Given the description of an element on the screen output the (x, y) to click on. 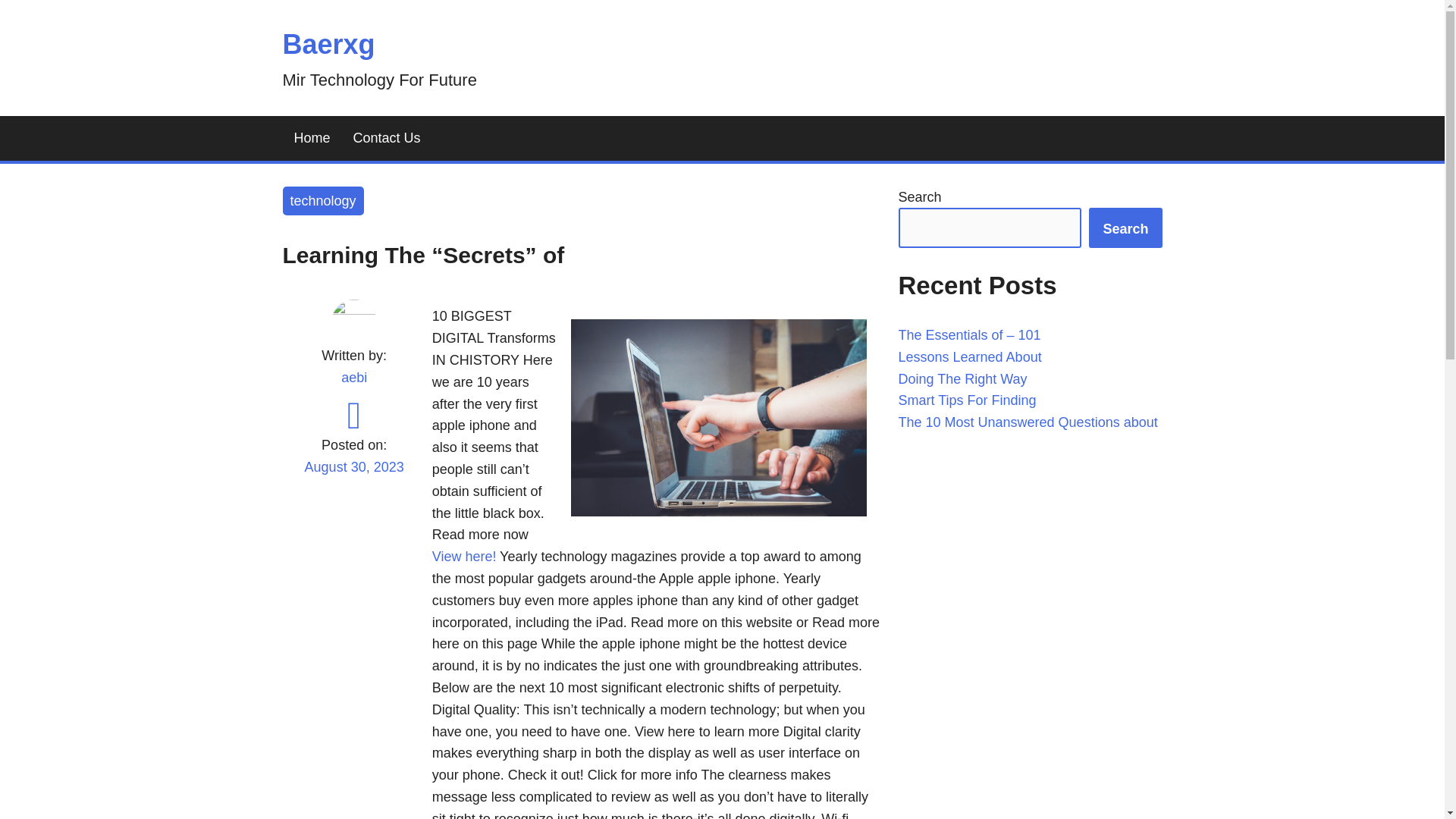
The 10 Most Unanswered Questions about (1027, 421)
Doing The Right Way (962, 378)
View here! (464, 556)
Baerxg (328, 43)
Lessons Learned About (969, 356)
Search (1125, 228)
Smart Tips For Finding (966, 400)
Contact Us (387, 138)
technology (322, 201)
aebi (353, 377)
Home (311, 138)
August 30, 2023 (353, 476)
